Given the description of an element on the screen output the (x, y) to click on. 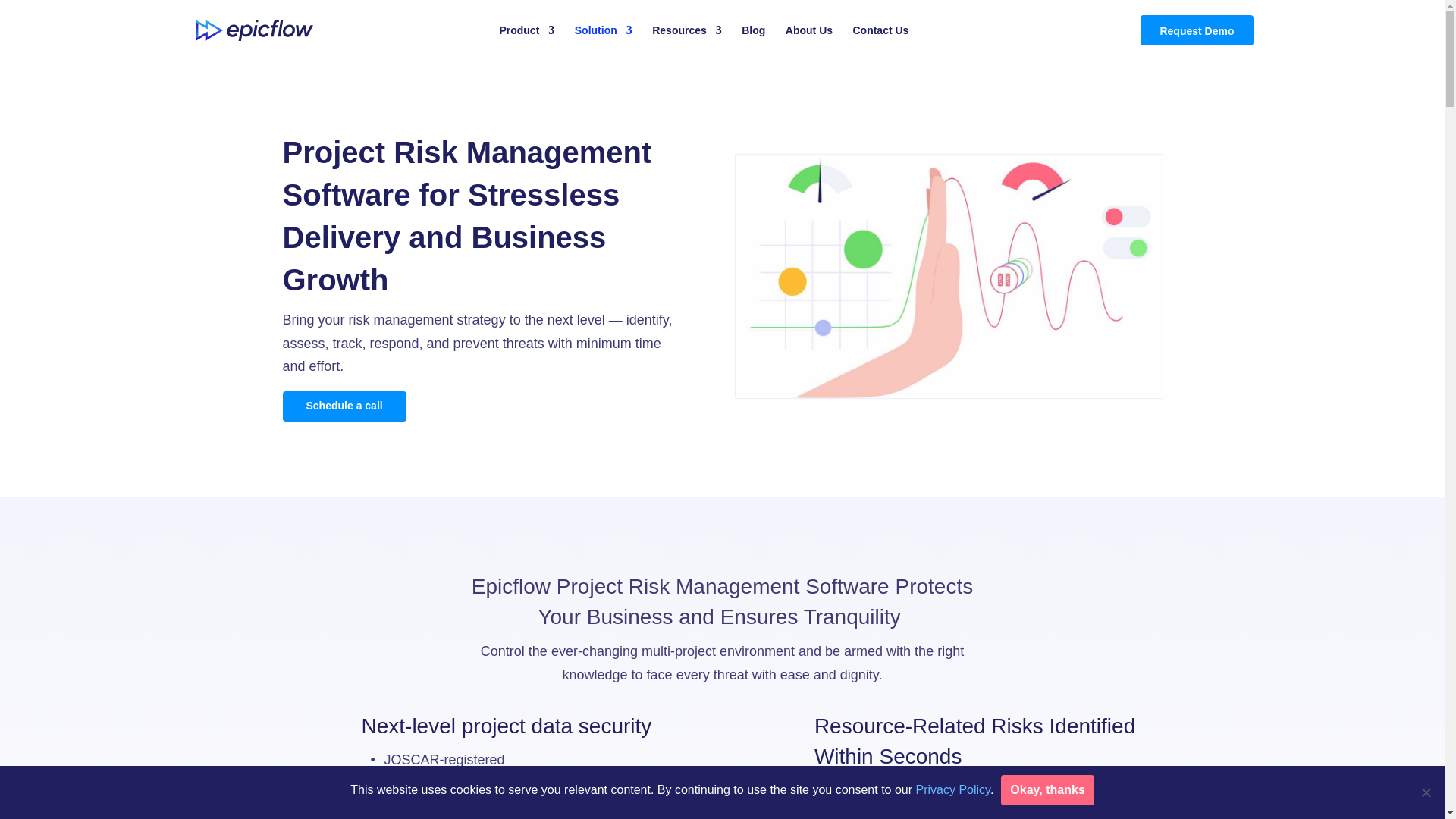
Resources (687, 42)
Solution (603, 42)
Request Demo (1195, 30)
Contact Us (879, 42)
About Us (809, 42)
Product (526, 42)
